Given the description of an element on the screen output the (x, y) to click on. 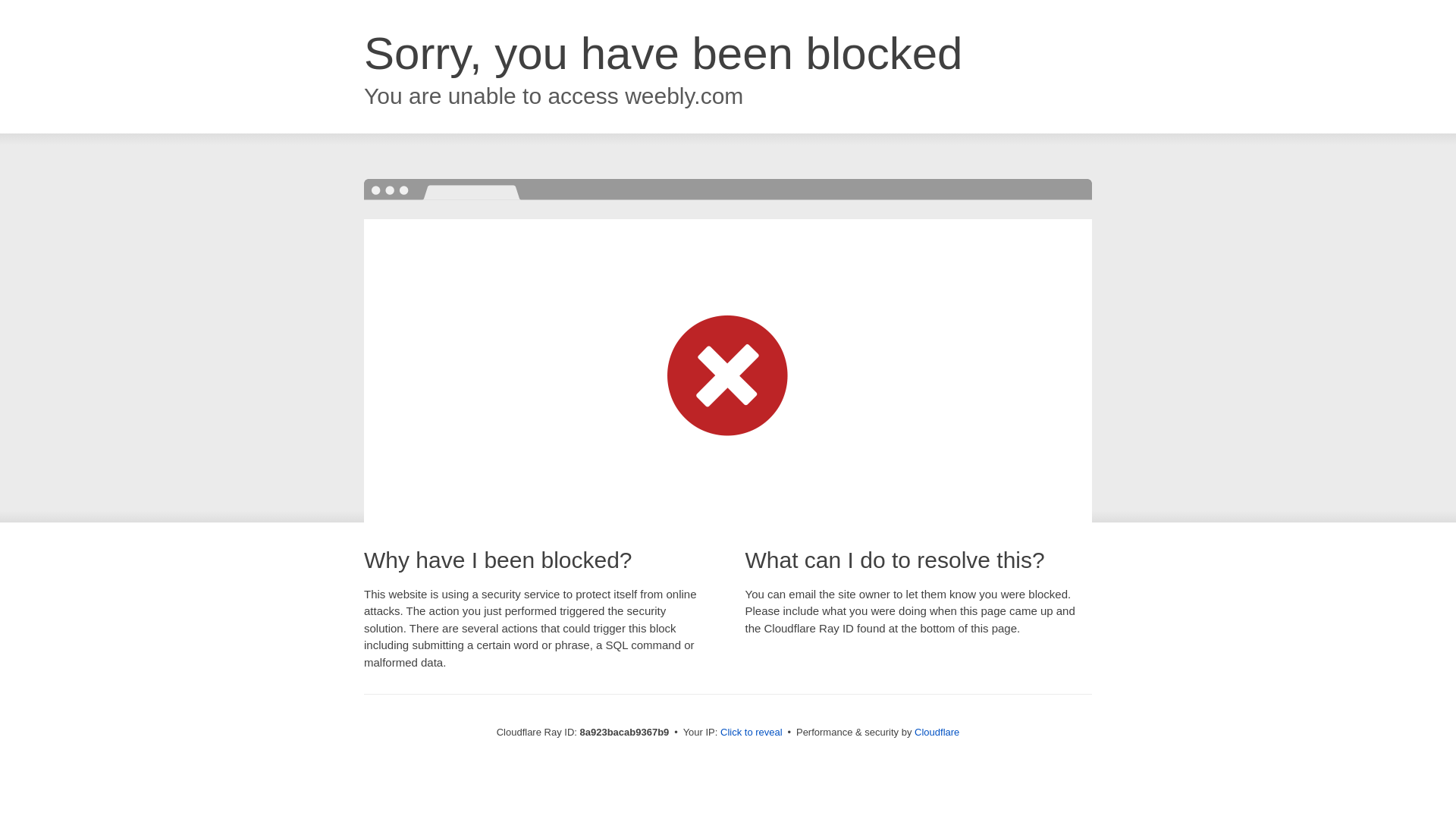
Cloudflare (936, 731)
Click to reveal (751, 732)
